Given the description of an element on the screen output the (x, y) to click on. 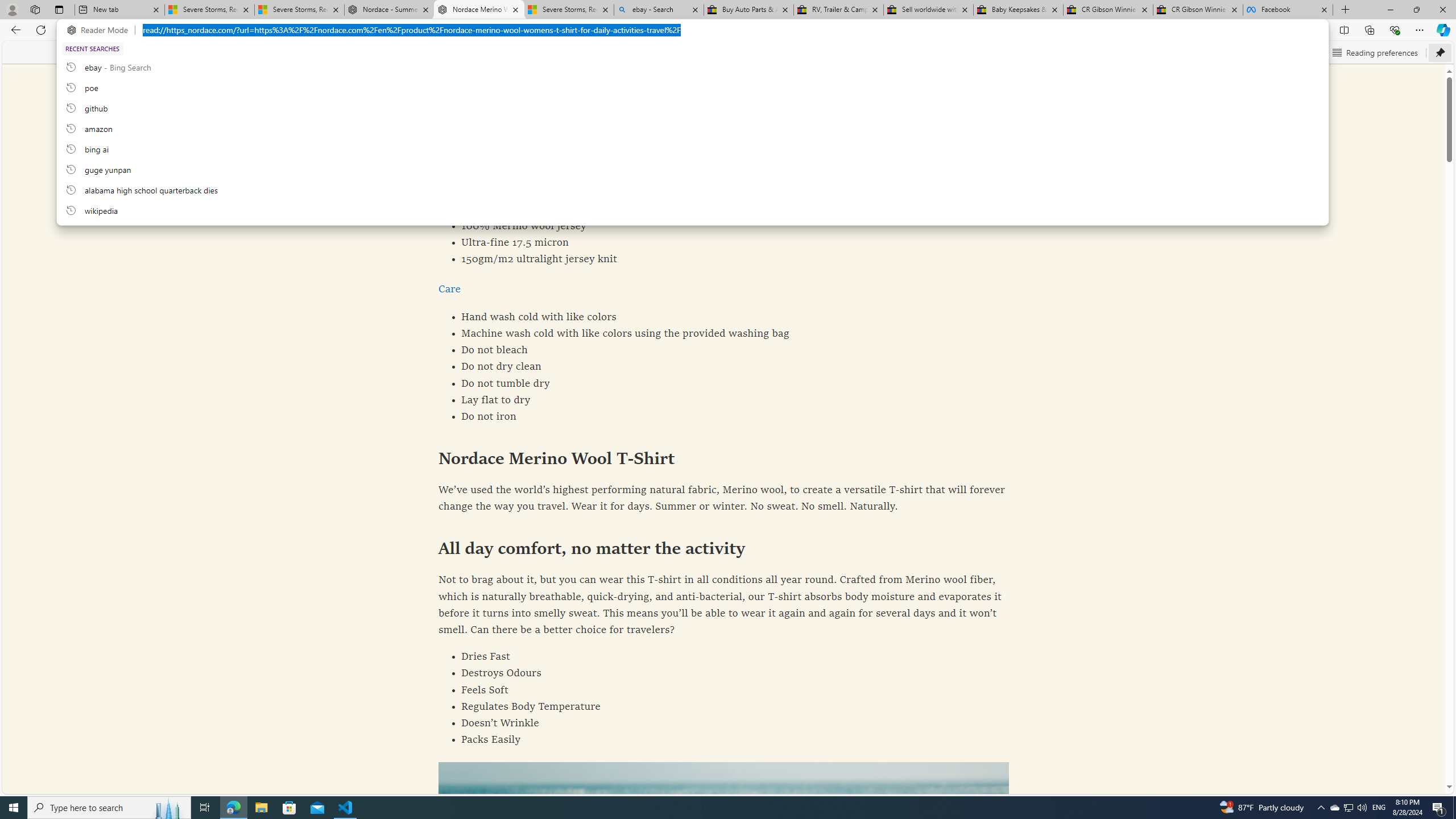
Do not iron (724, 416)
poe, recent searches from history (691, 86)
Unpin toolbar (1439, 52)
Hand wash cold with like colors (724, 317)
Care (449, 289)
guge yunpan, recent searches from history (691, 168)
Lay flat to dry (724, 399)
150gm/m2 ultralight jersey knit (724, 259)
Destroys Odours (724, 673)
